Given the description of an element on the screen output the (x, y) to click on. 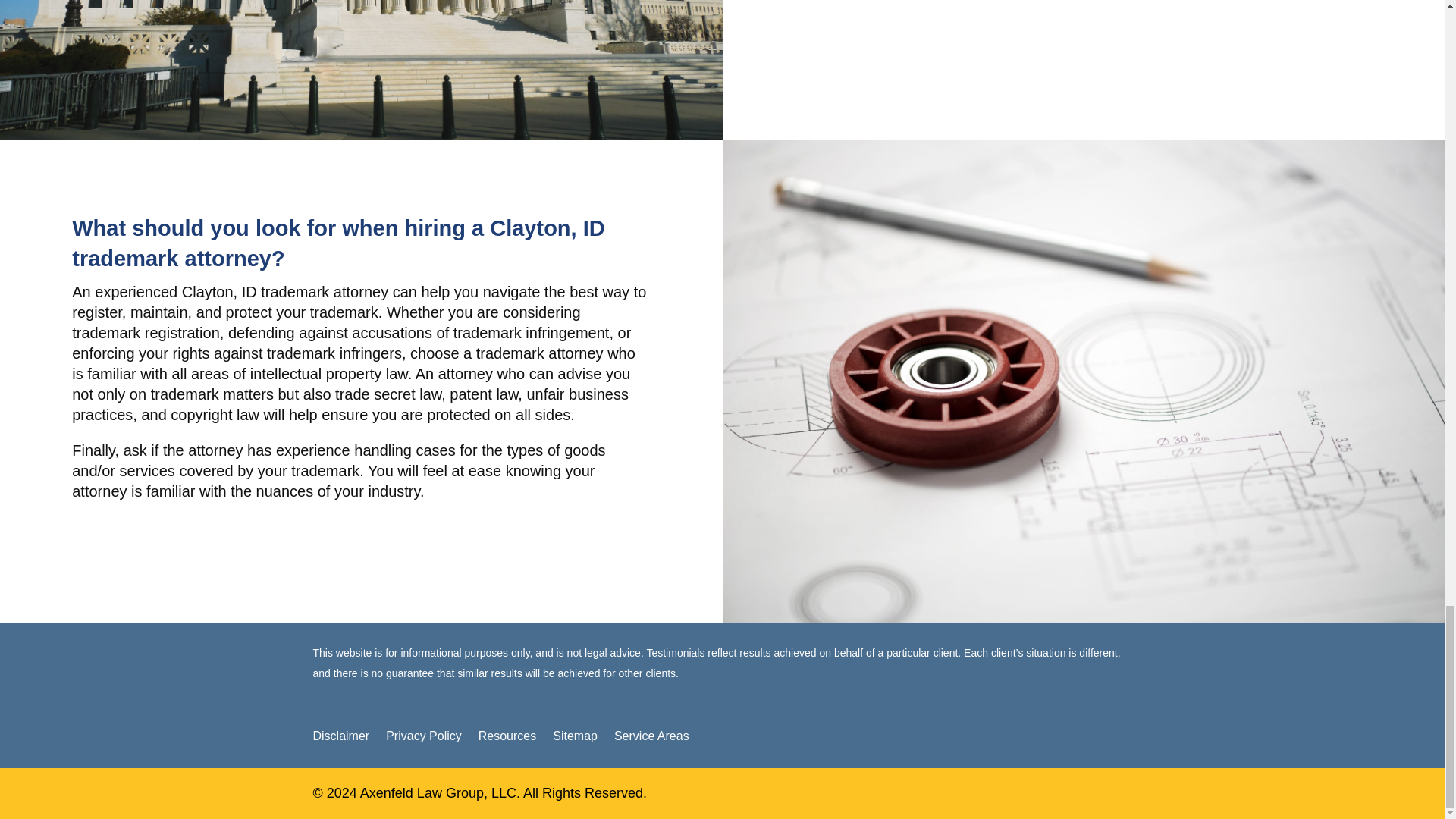
Clayton, ID Trademark Trends (361, 70)
